Given the description of an element on the screen output the (x, y) to click on. 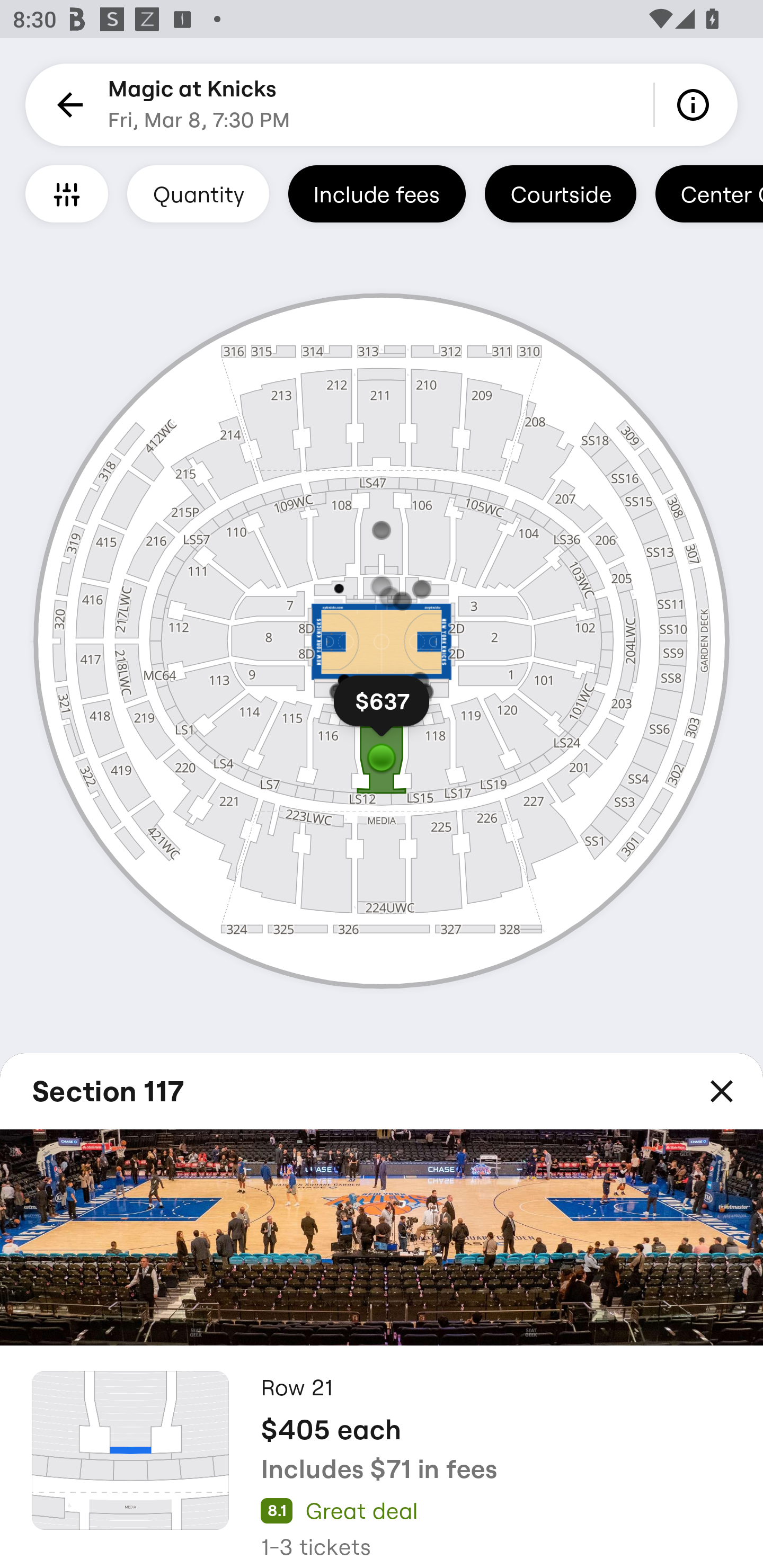
Back (66, 104)
Magic at Knicks Fri, Mar 8, 7:30 PM (198, 104)
Info (695, 104)
Filters and Accessible Seating (66, 193)
Quantity (198, 193)
Include fees (376, 193)
Courtside (560, 193)
$637 (381, 708)
Close (721, 1090)
